Given the description of an element on the screen output the (x, y) to click on. 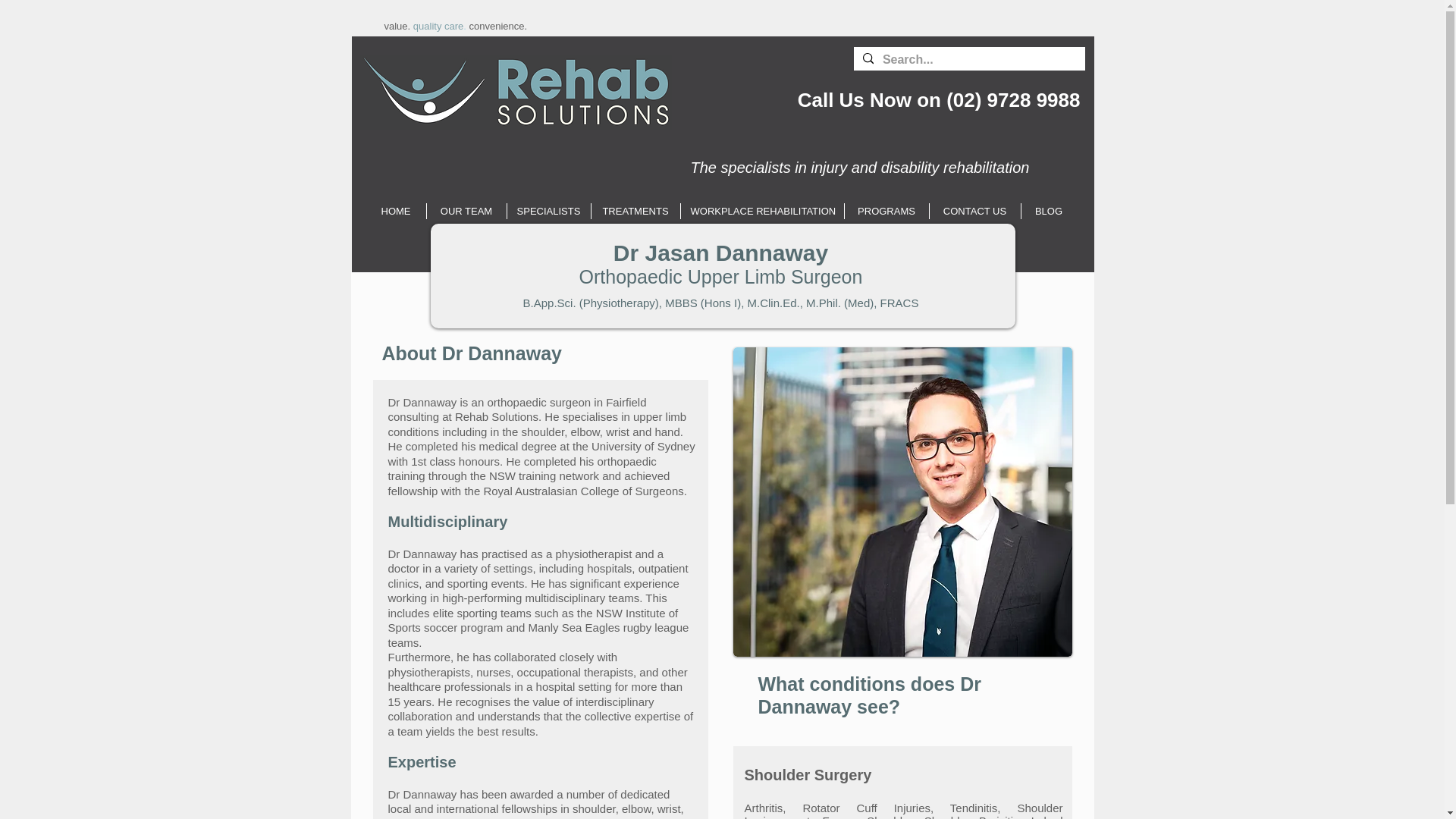
WORKPLACE REHABILITATION (762, 211)
HOME (395, 211)
PROGRAMS (886, 211)
NDIS Approved Provider (1013, 52)
TREATMENTS (635, 211)
SPECIALISTS (547, 211)
OUR TEAM (465, 211)
CONTACT US (975, 211)
BLOG (1047, 211)
